Given the description of an element on the screen output the (x, y) to click on. 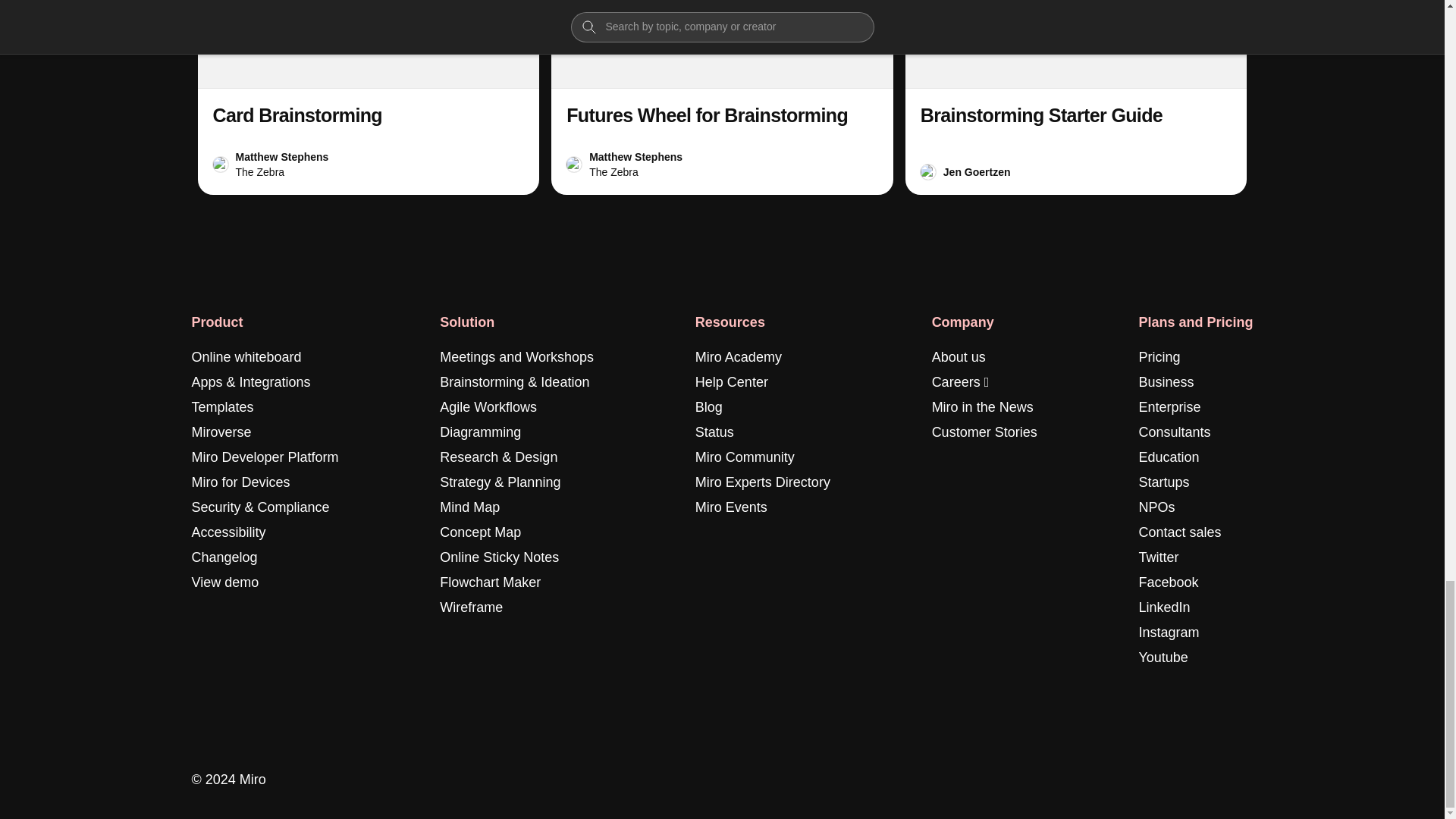
Accessibility (227, 532)
Jen Goertzen (976, 171)
Templates (221, 407)
Online whiteboard (245, 357)
Card Brainstorming (367, 97)
Matthew Stephens (281, 156)
Futures Wheel for Brainstorming (706, 115)
Card Brainstorming (296, 115)
Changelog (223, 557)
Miro for Devices (239, 482)
Matthew Stephens (635, 156)
Miro Developer Platform (263, 457)
Brainstorming Starter Guide (1040, 115)
Futures Wheel for Brainstorming (722, 97)
Brainstorming Starter Guide (1076, 97)
